Given the description of an element on the screen output the (x, y) to click on. 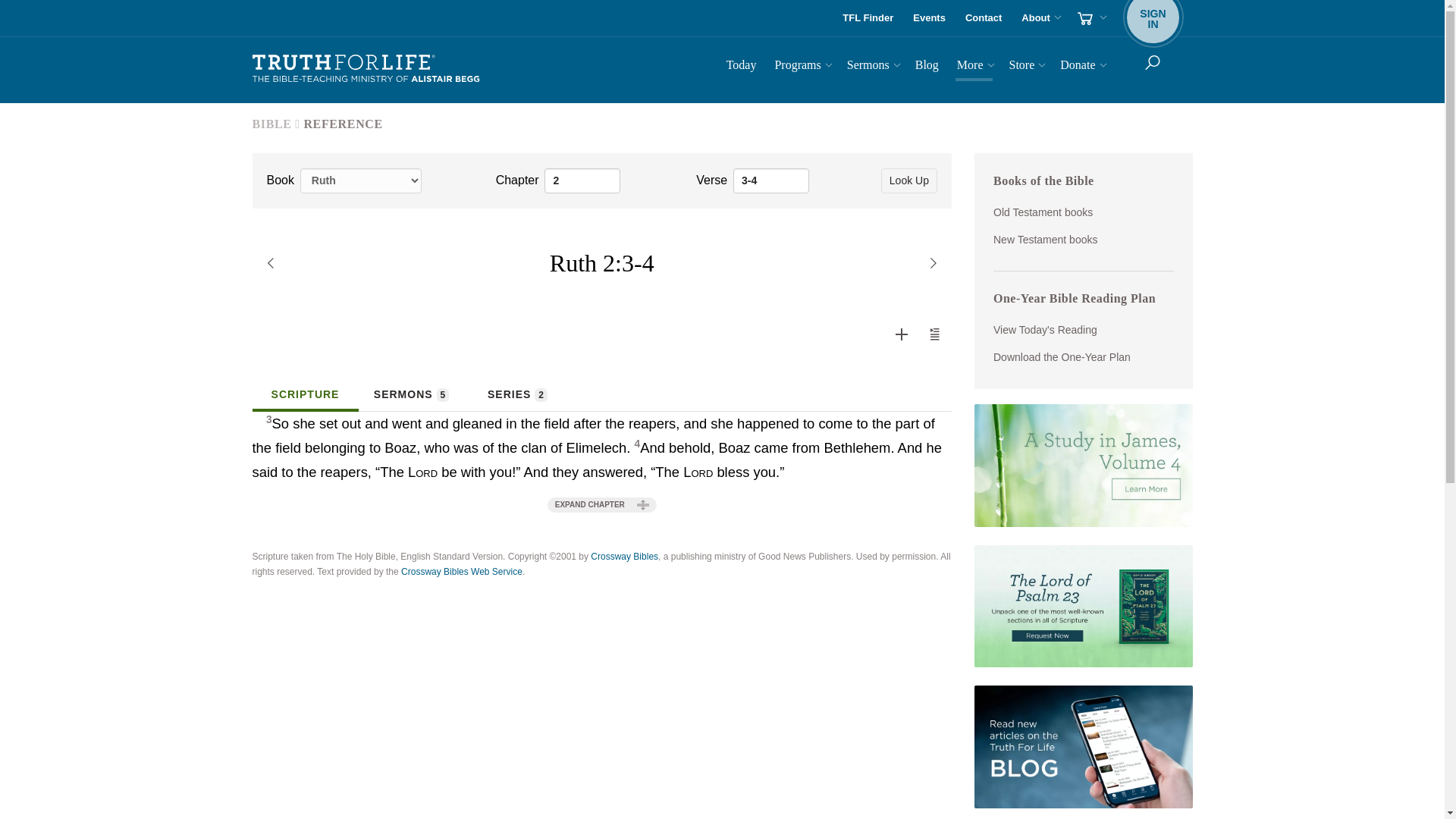
Today (741, 66)
About (1039, 18)
Add to My Library (901, 334)
cart (1090, 18)
Contact (1152, 18)
Truth For Life (983, 18)
TFL Finder (365, 68)
Events (867, 18)
2 (929, 18)
Add to Listen Queue (582, 180)
3-4 (934, 334)
Add to My Library (771, 180)
Listen Queue (901, 334)
Programs (935, 334)
